Given the description of an element on the screen output the (x, y) to click on. 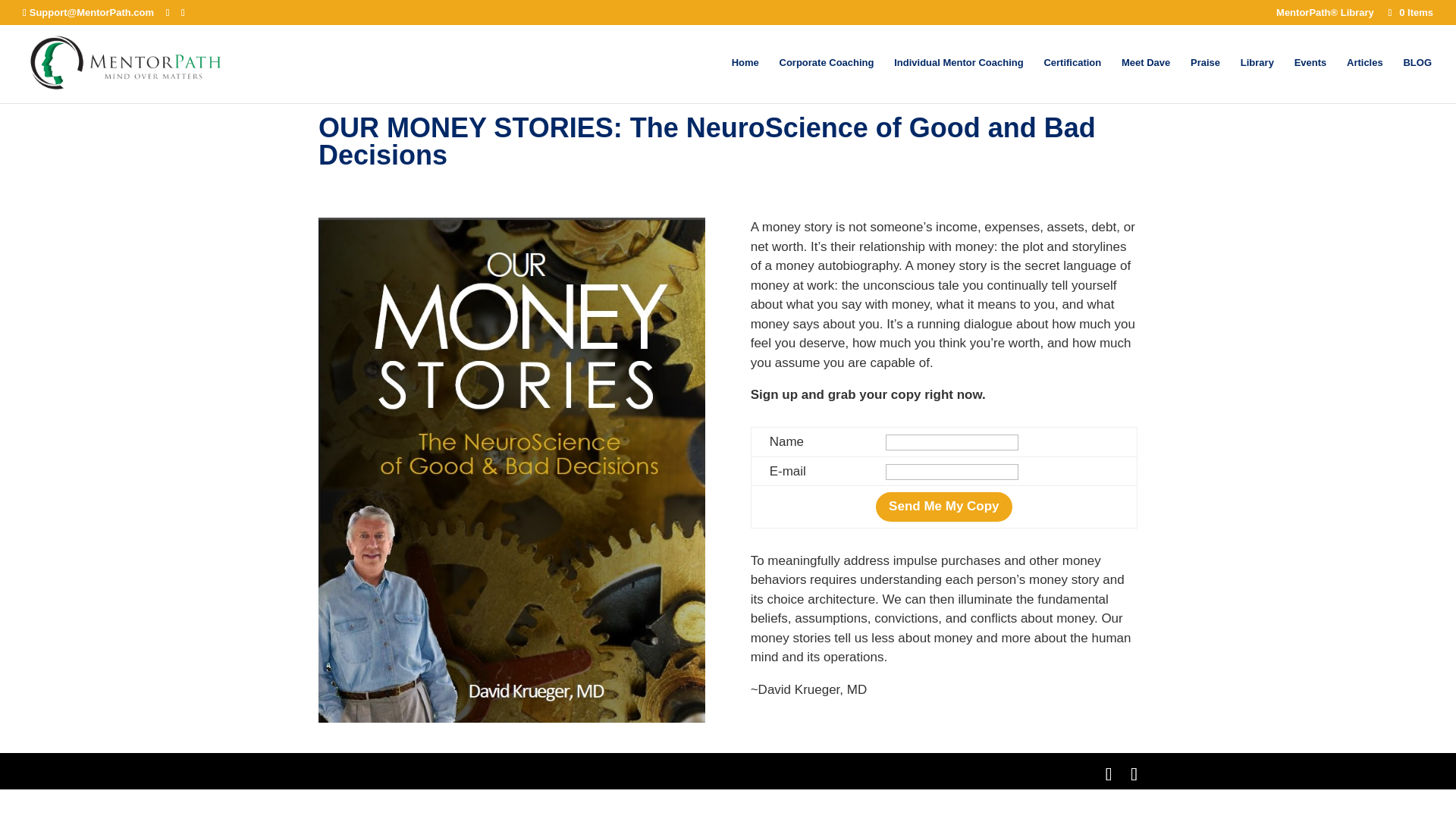
Send Me My Copy (944, 506)
Send Me My Copy (944, 506)
Certification (1071, 80)
Individual Mentor Coaching (958, 80)
Meet Dave (1145, 80)
Corporate Coaching (826, 80)
0 Items (1409, 12)
